Given the description of an element on the screen output the (x, y) to click on. 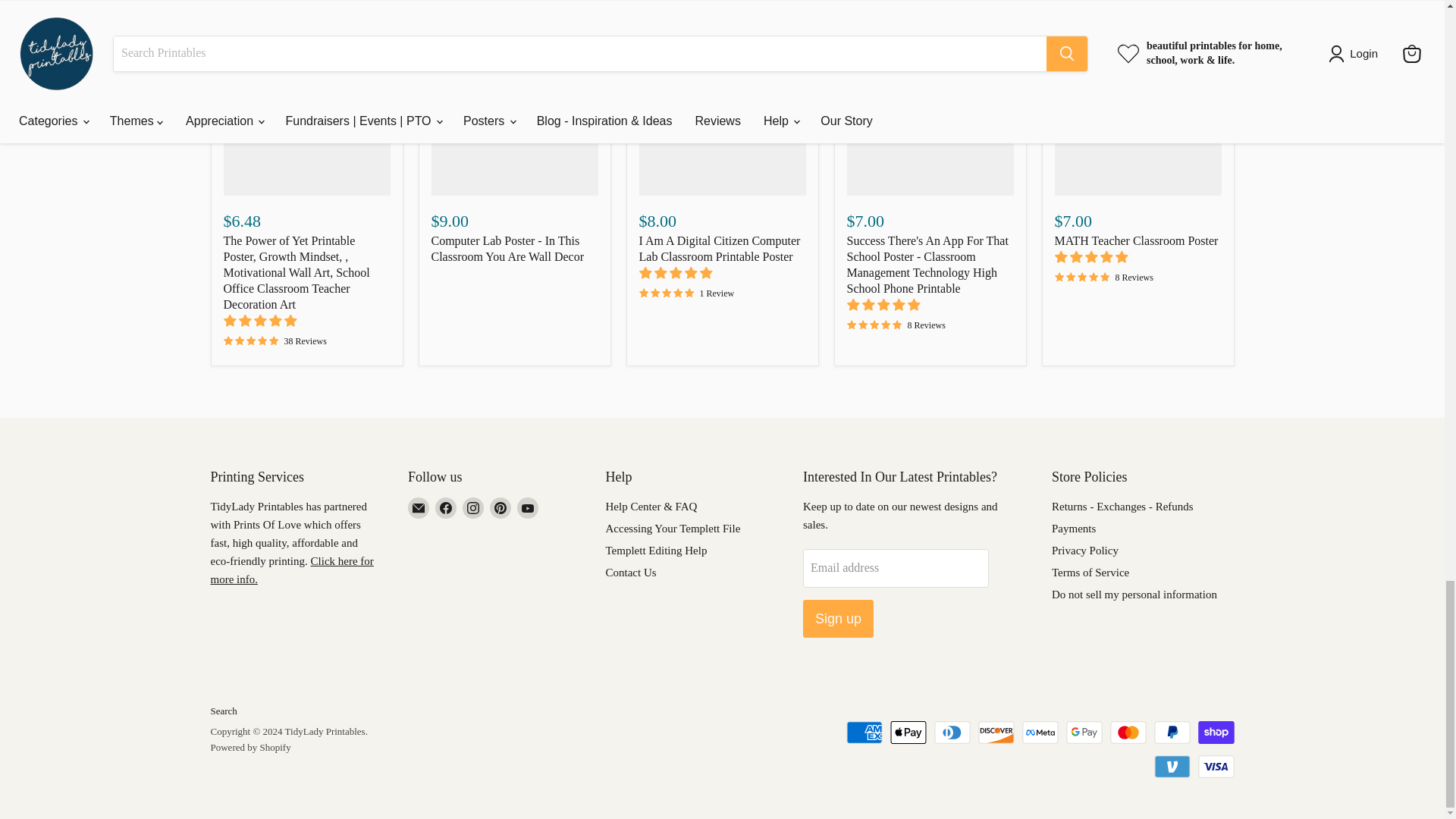
Instagram (473, 507)
Pinterest (500, 507)
Facebook (446, 507)
YouTube (527, 507)
Email (418, 507)
